Given the description of an element on the screen output the (x, y) to click on. 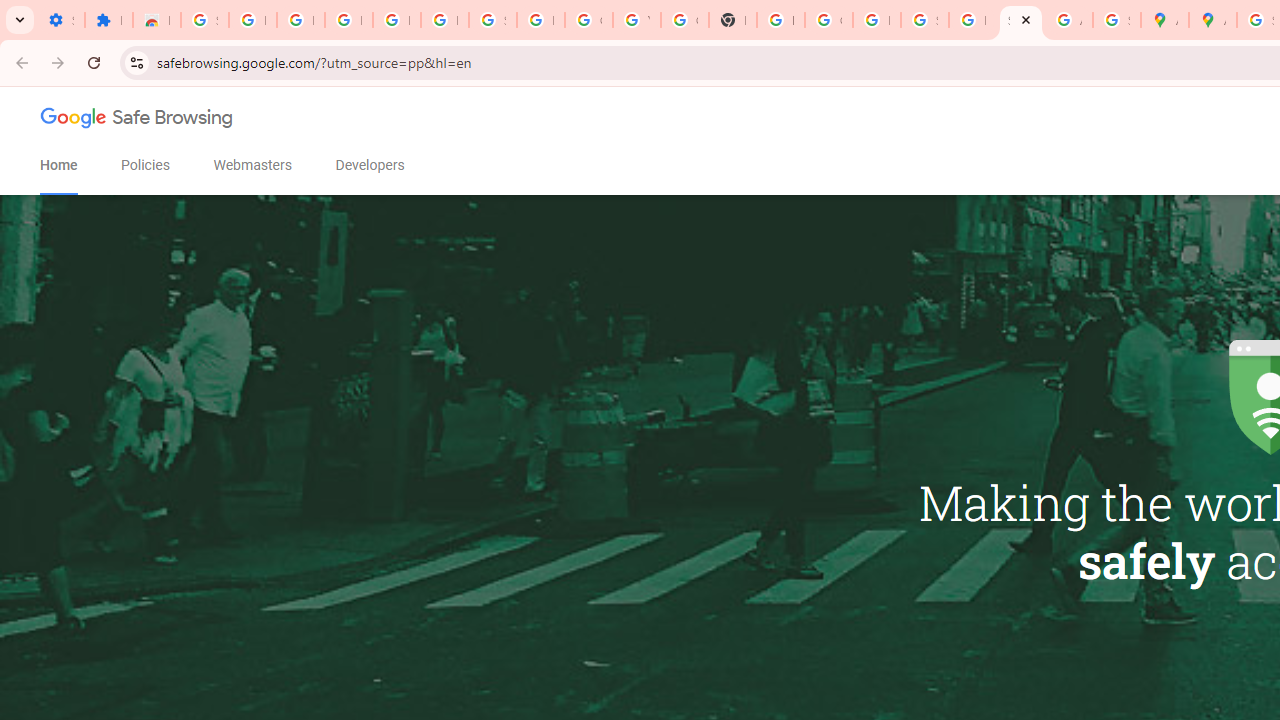
Sign in - Google Accounts (204, 20)
Developers (369, 165)
Reviews: Helix Fruit Jump Arcade Game (156, 20)
Delete photos & videos - Computer - Google Photos Help (348, 20)
https://scholar.google.com/ (780, 20)
